Given the description of an element on the screen output the (x, y) to click on. 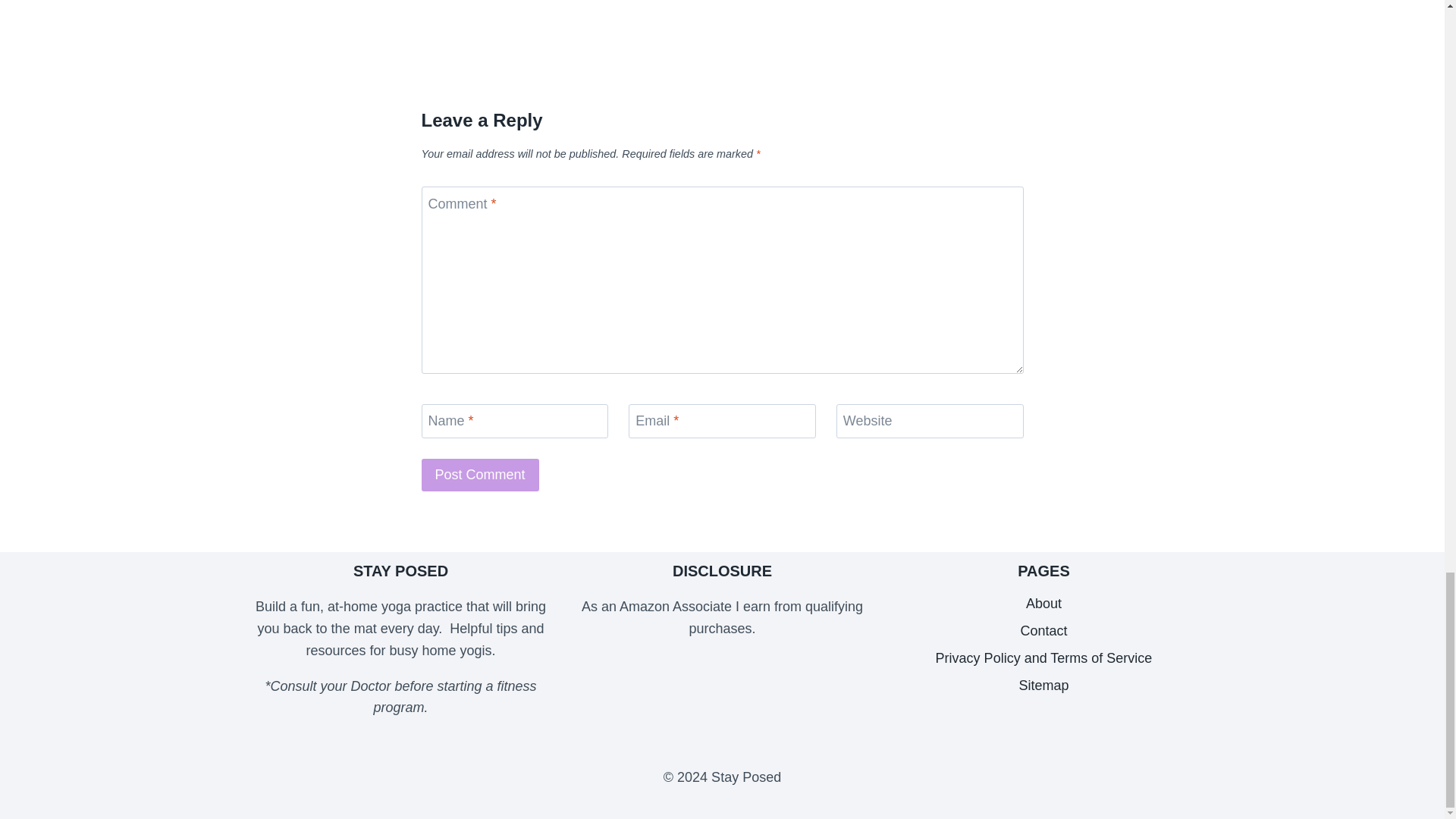
Post Comment (480, 474)
Post Comment (480, 474)
About (1044, 603)
Contact (1044, 630)
Privacy Policy and Terms of Service (1044, 657)
Sitemap (1044, 685)
